Given the description of an element on the screen output the (x, y) to click on. 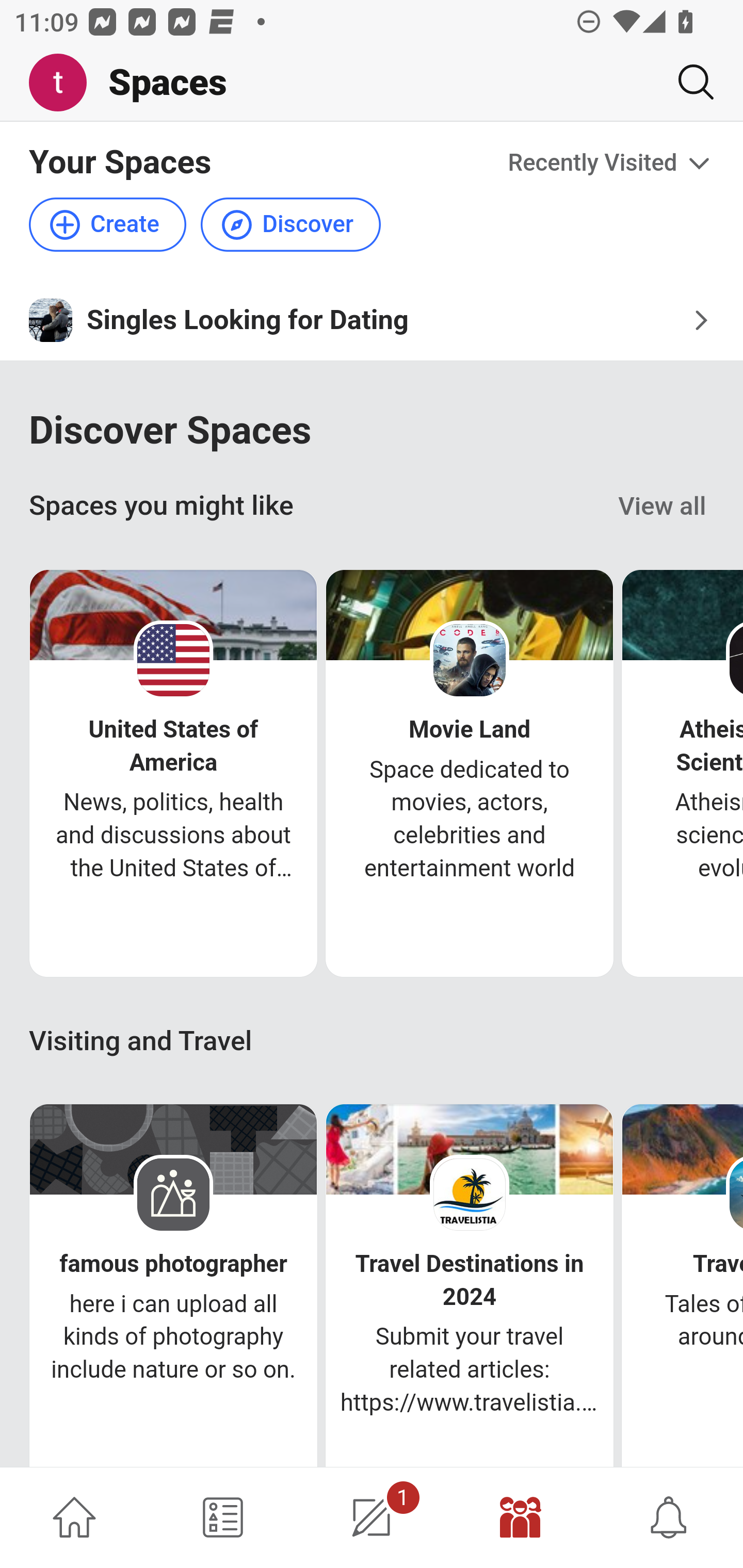
Me (64, 83)
Search (688, 82)
Recently Visited (610, 162)
Create (107, 224)
Discover (289, 224)
View all (662, 506)
United States of America (173, 745)
Movie Land (469, 729)
famous photographer (173, 1263)
Travel Destinations in 2024 (469, 1279)
1 (371, 1517)
